Given the description of an element on the screen output the (x, y) to click on. 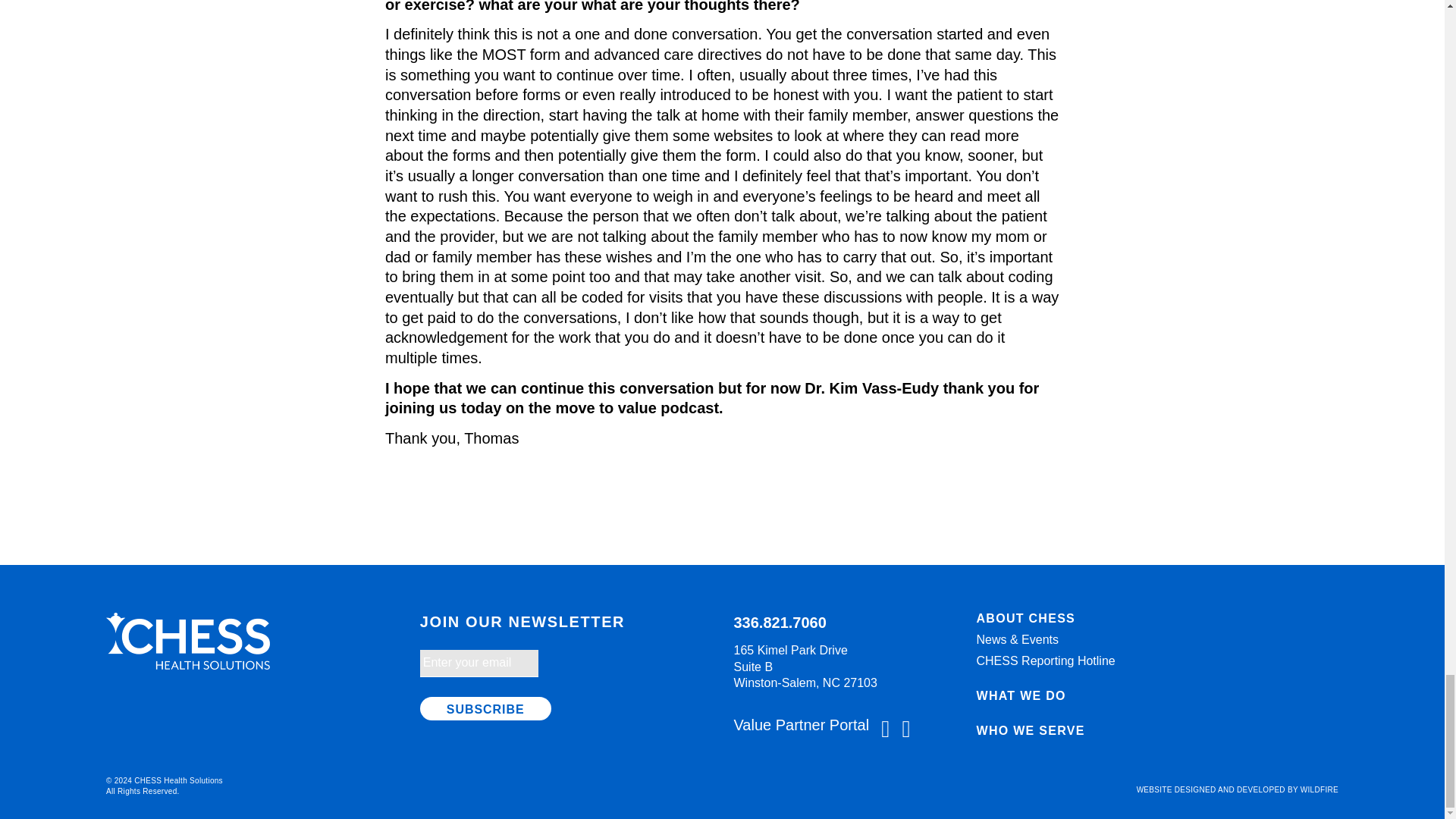
Subscribe (485, 708)
336.821.7060 (780, 622)
Subscribe (485, 708)
Value Partner Portal (802, 724)
